Given the description of an element on the screen output the (x, y) to click on. 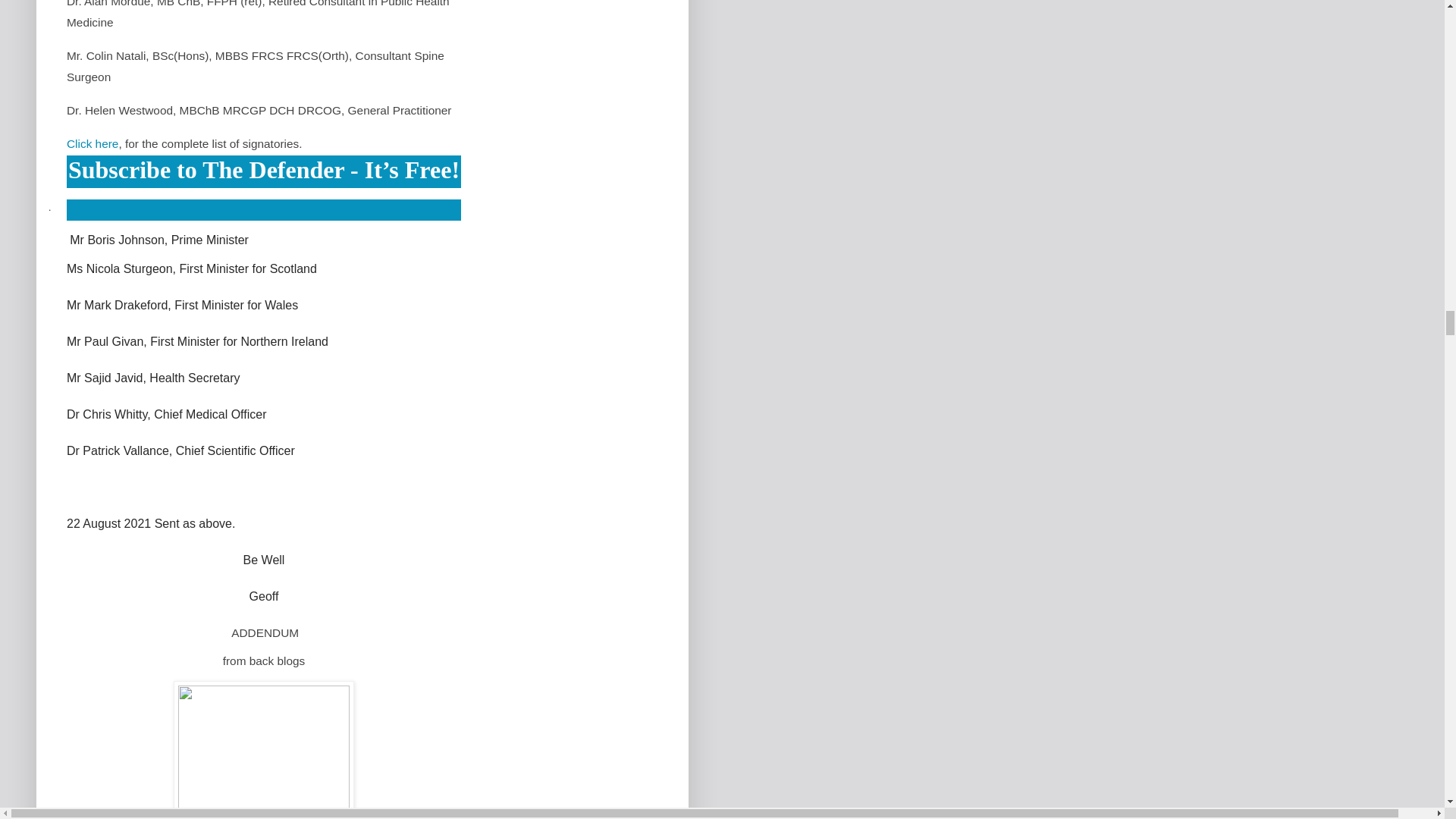
Click here (91, 143)
